Given the description of an element on the screen output the (x, y) to click on. 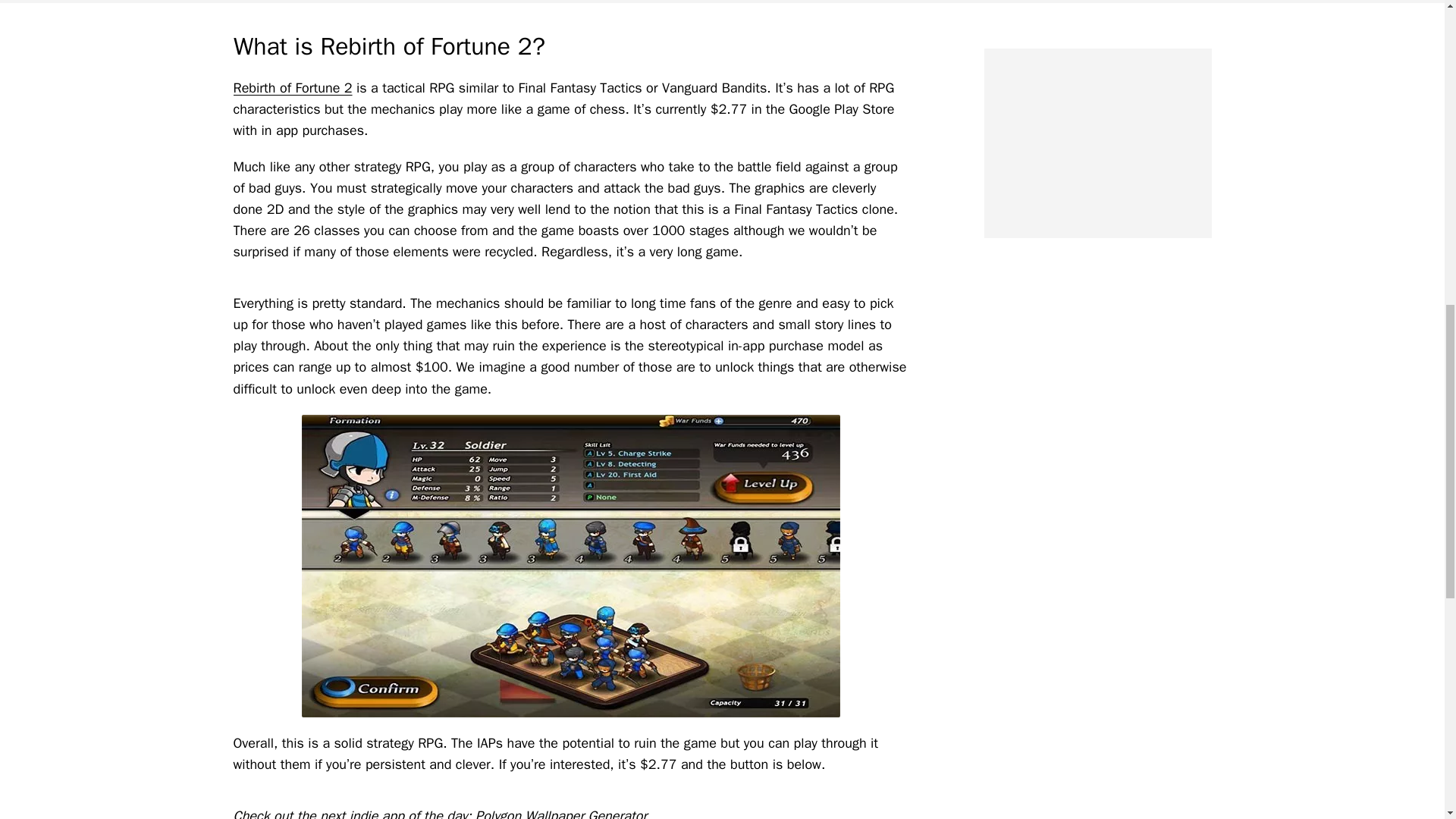
Rebirth of Fortune 2 (292, 87)
